Given the description of an element on the screen output the (x, y) to click on. 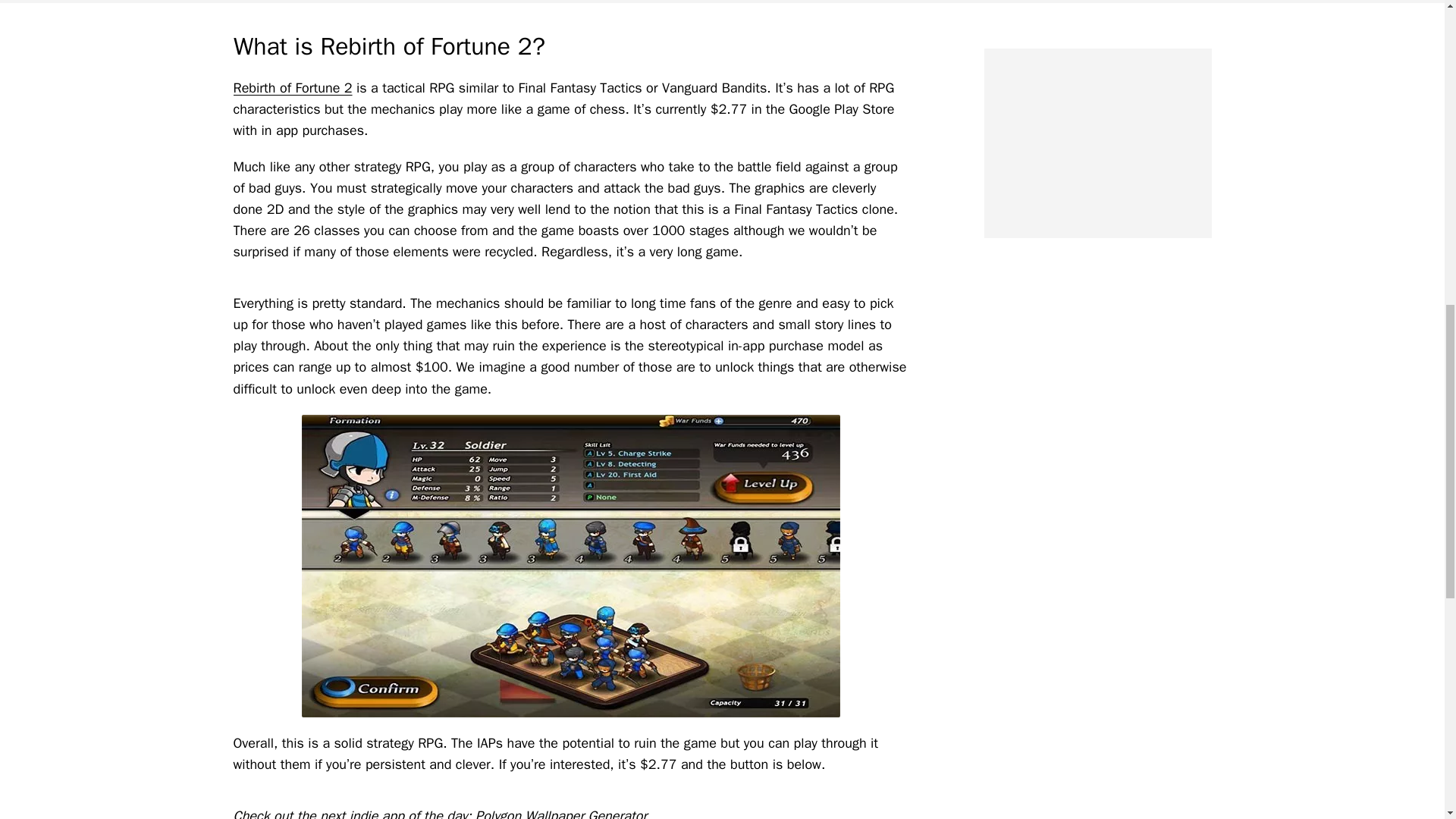
Rebirth of Fortune 2 (292, 87)
